Given the description of an element on the screen output the (x, y) to click on. 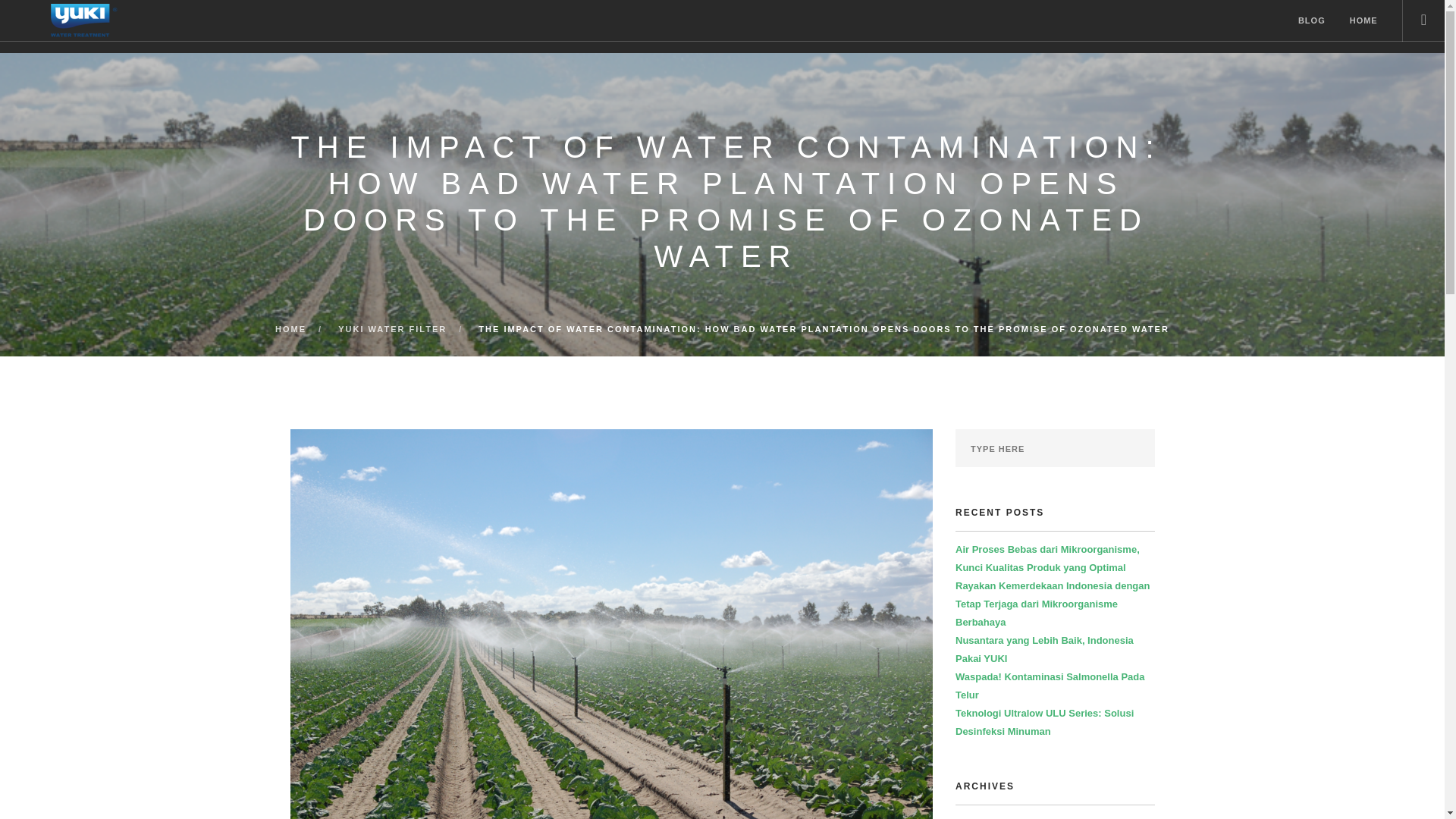
YUKI WATER FILTER (391, 328)
Waspada! Kontaminasi Salmonella Pada Telur (1049, 685)
August 2024 (984, 818)
Teknologi Ultralow ULU Series: Solusi Desinfeksi Minuman (1044, 722)
HOME (290, 328)
Nusantara yang Lebih Baik, Indonesia Pakai YUKI (1044, 649)
